Given the description of an element on the screen output the (x, y) to click on. 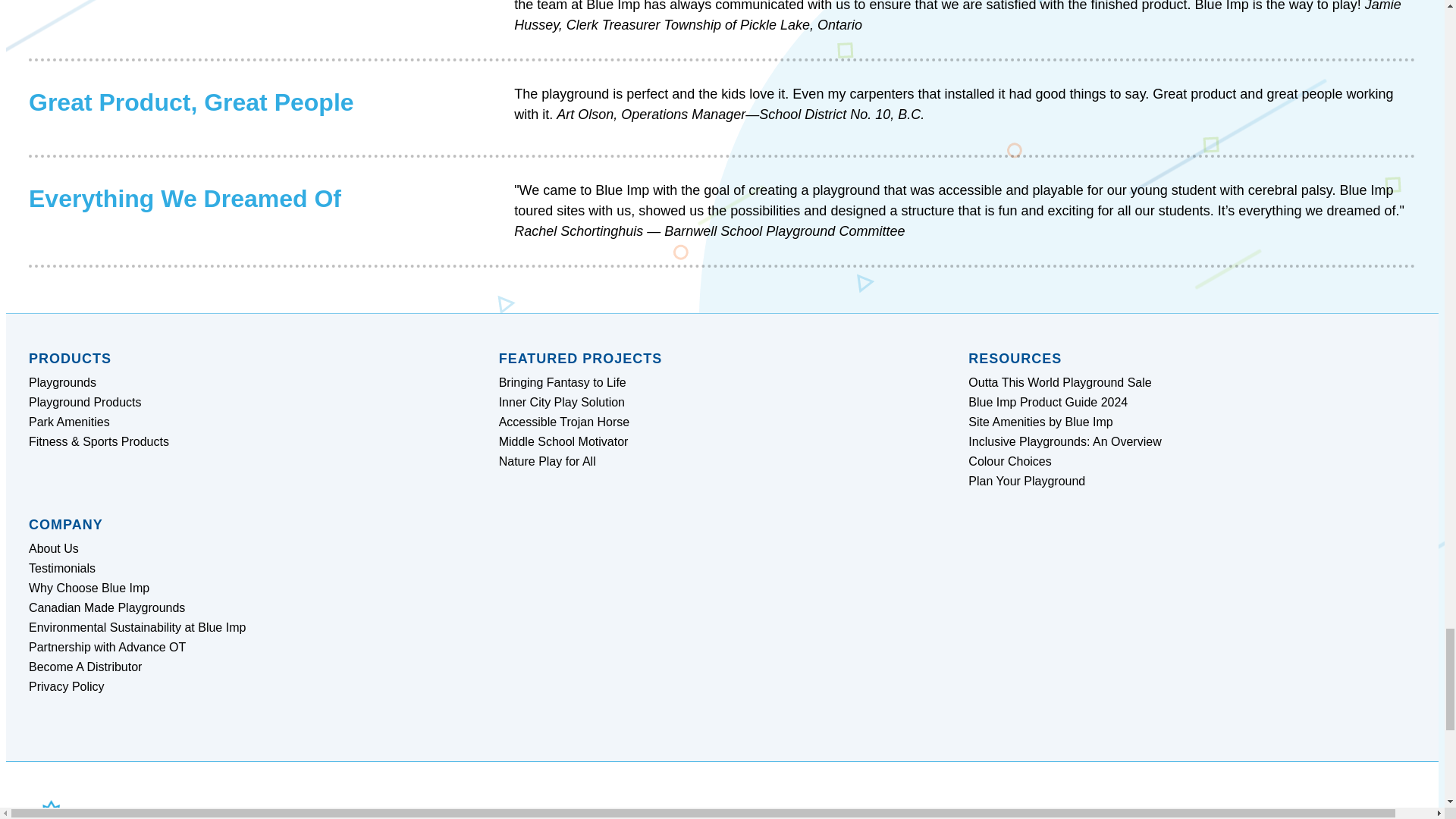
Playground Components (880, 143)
